Given the description of an element on the screen output the (x, y) to click on. 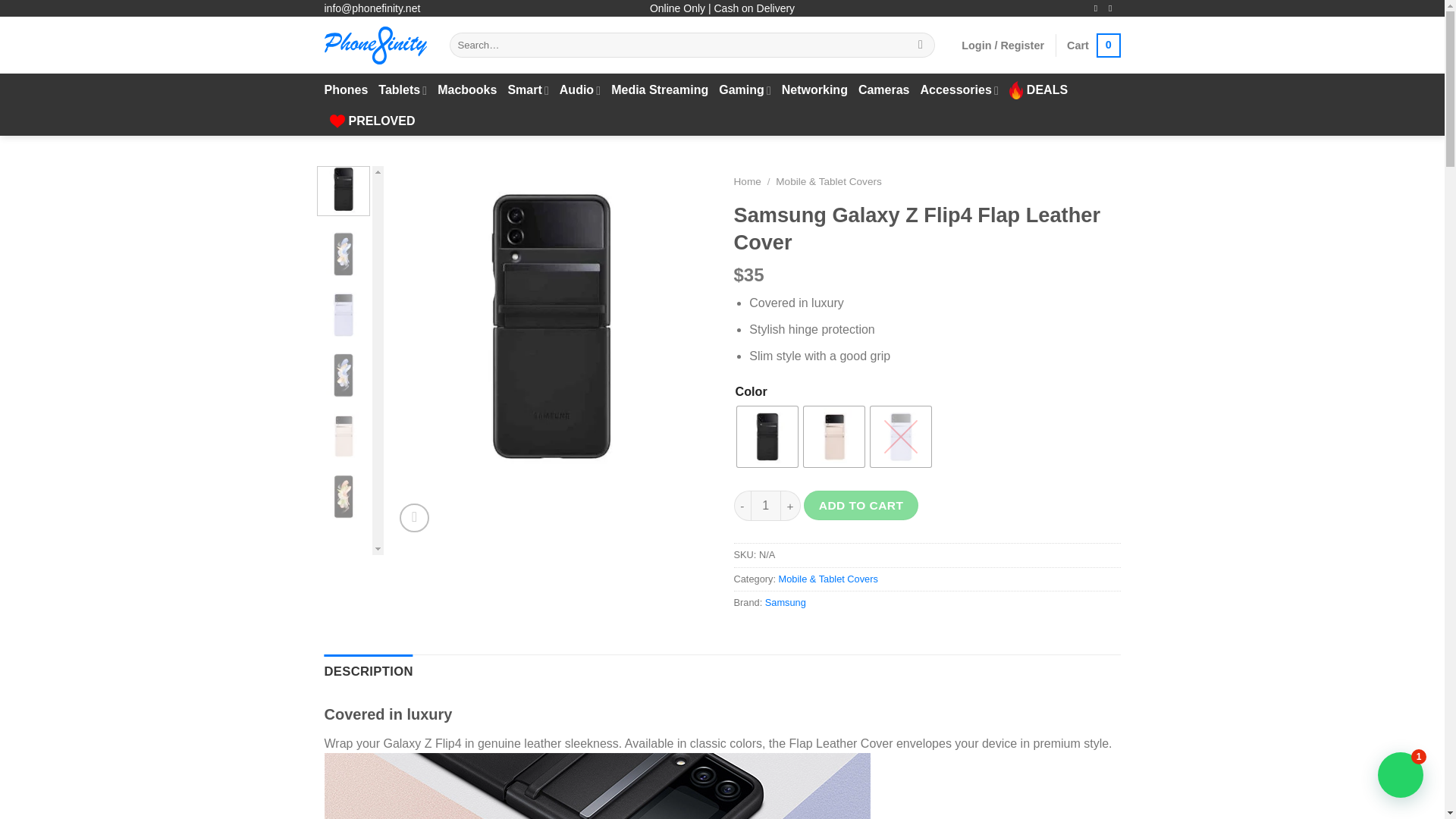
DEALS (1038, 90)
Samsung Galaxy Z Flip4 Flap Leather Cover (551, 326)
Cart (1093, 44)
Zoom (1093, 44)
Peach (413, 518)
Phones (833, 436)
Search (346, 90)
Purple (920, 45)
Samsung Galaxy Z Flip4 Flap Leather Cover (900, 436)
Networking (231, 326)
Accessories (814, 90)
Media Streaming (959, 90)
Login (659, 90)
Macbooks (1001, 44)
